Given the description of an element on the screen output the (x, y) to click on. 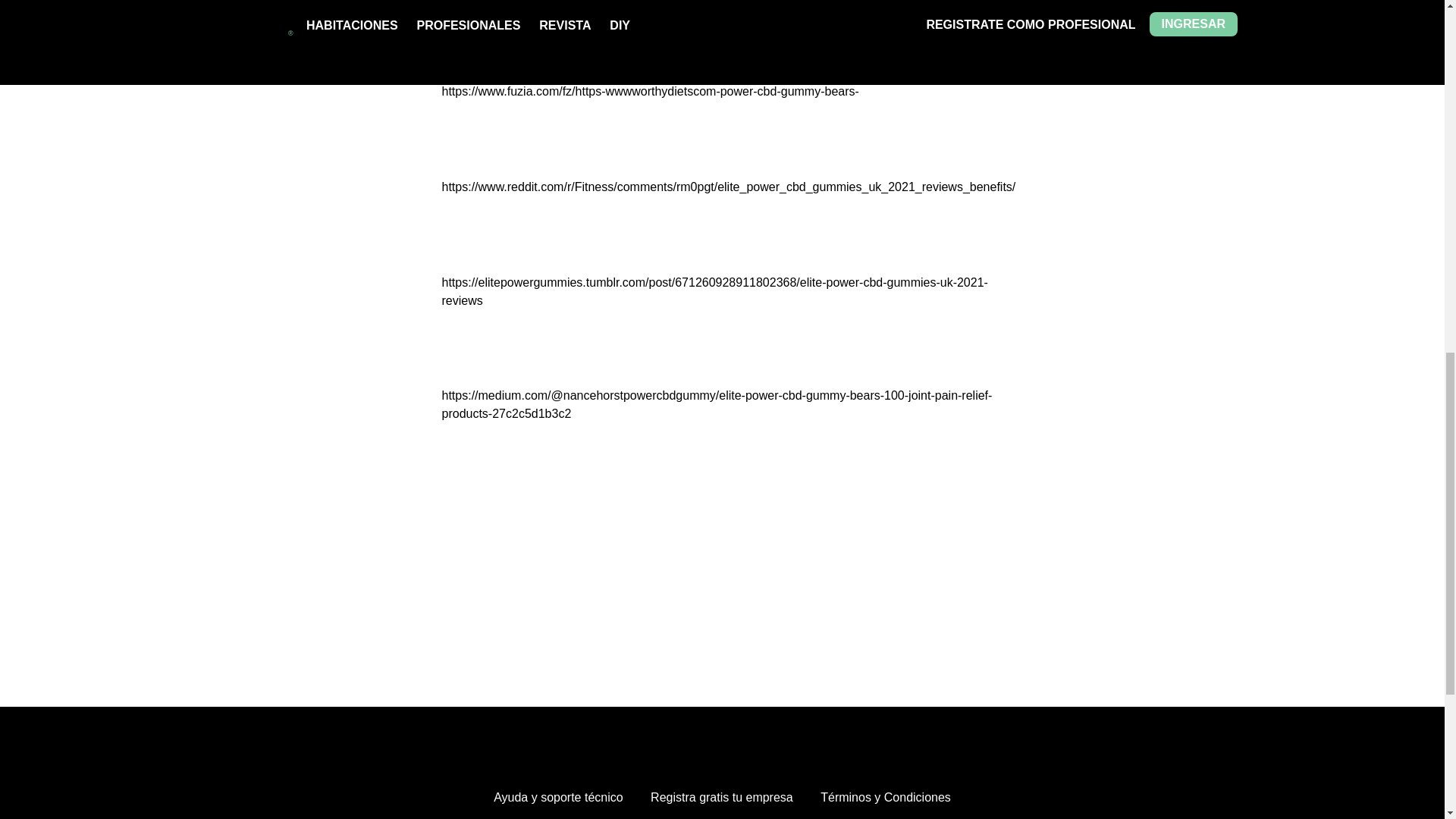
Registra gratis tu empresa (721, 797)
